Given the description of an element on the screen output the (x, y) to click on. 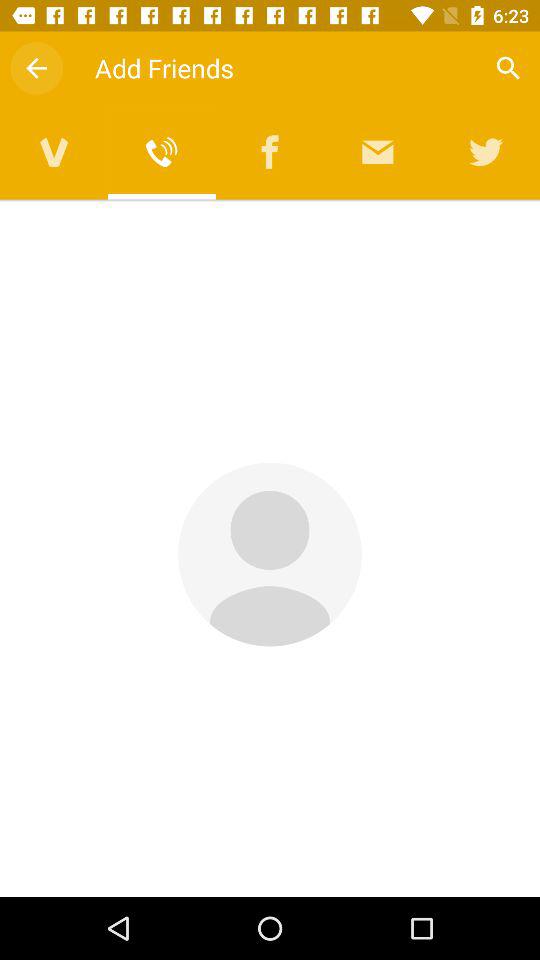
go to twitter account (486, 152)
